Given the description of an element on the screen output the (x, y) to click on. 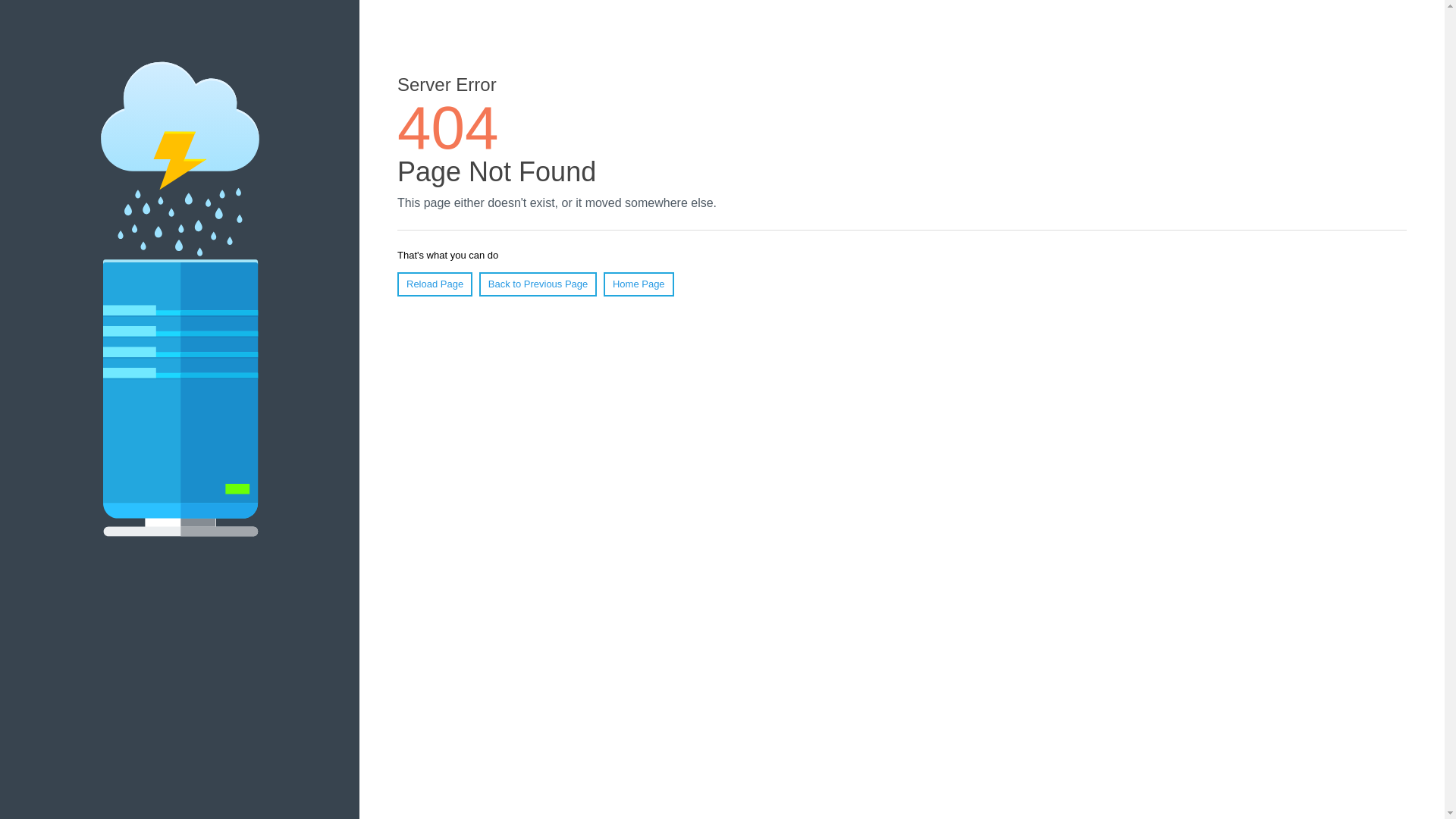
Back to Previous Page Element type: text (538, 284)
Reload Page Element type: text (434, 284)
Home Page Element type: text (638, 284)
